Given the description of an element on the screen output the (x, y) to click on. 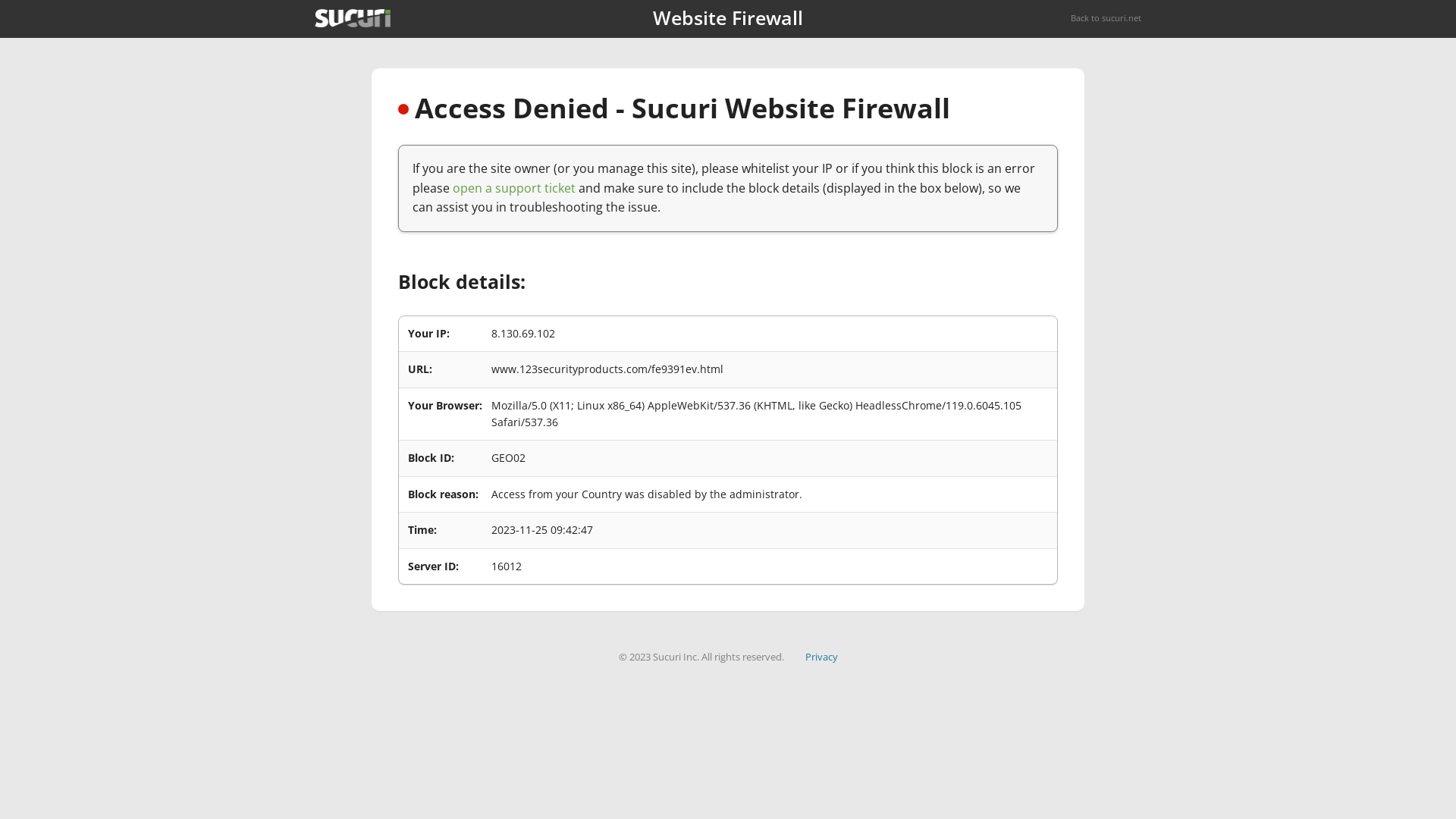
Back to sucuri.net Element type: text (1105, 18)
open a support ticket Element type: text (513, 187)
Privacy Element type: text (821, 656)
